Given the description of an element on the screen output the (x, y) to click on. 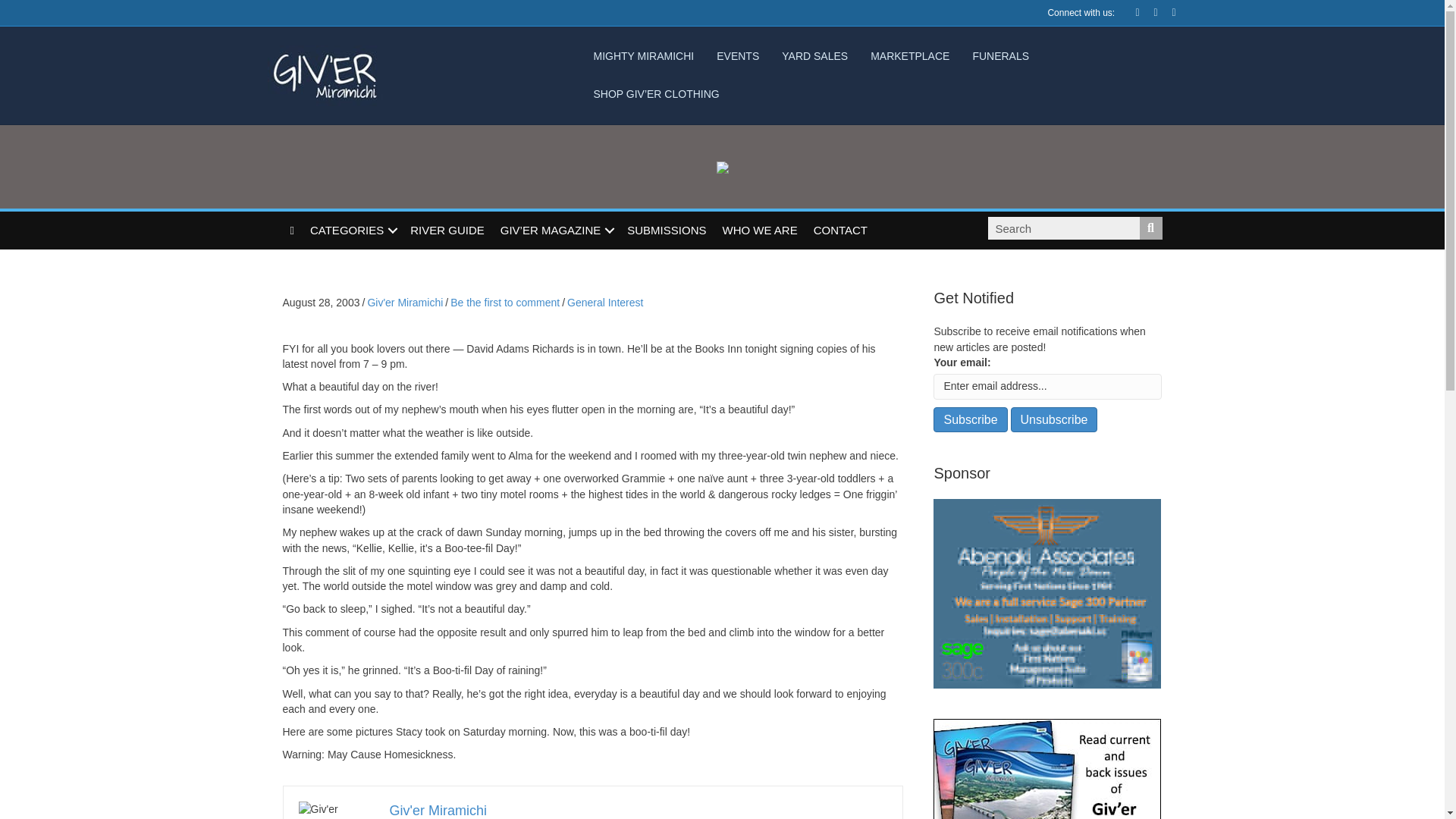
Twitter (1147, 11)
Facebook (1129, 11)
MIGHTY MIRAMICHI (642, 56)
Unsubscribe (1053, 419)
Enter email address... (1047, 386)
CATEGORIES (351, 230)
Instagram (1165, 11)
MARKETPLACE (909, 56)
EVENTS (737, 56)
FUNERALS (1000, 56)
Search (1062, 228)
YARD SALES (814, 56)
Subscribe (970, 419)
RIVER GUIDE (447, 230)
